Given the description of an element on the screen output the (x, y) to click on. 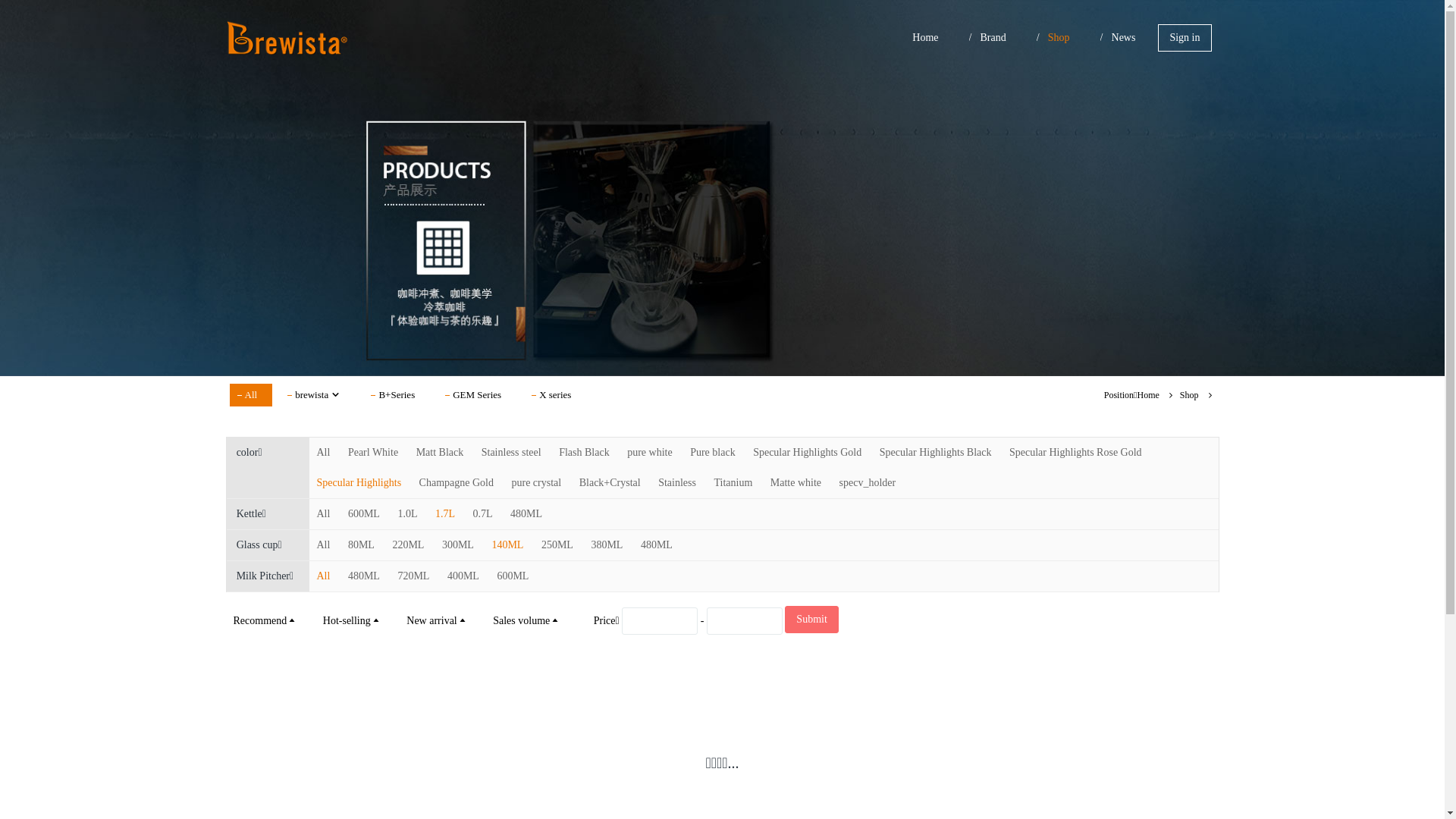
Specular Highlights Black Element type: text (935, 451)
brewista Element type: text (317, 394)
Matt Black Element type: text (439, 451)
Brewista In Asia Element type: hover (288, 37)
Brand Element type: text (993, 37)
GEM Series Element type: text (476, 394)
1.7L Element type: text (444, 513)
250ML Element type: text (556, 544)
All Element type: text (250, 394)
Submit Element type: text (810, 619)
Titanium Element type: text (732, 482)
380ML Element type: text (606, 544)
Specular Highlights Rose Gold Element type: text (1075, 451)
pure white Element type: text (649, 451)
Specular Highlights Element type: text (359, 482)
Stainless steel Element type: text (511, 451)
Home Element type: text (1147, 394)
Flash Black Element type: text (584, 451)
pure crystal Element type: text (535, 482)
Home Element type: text (924, 37)
Pearl White Element type: text (372, 451)
140ML Element type: text (506, 544)
Hot-selling Element type: text (352, 620)
All Element type: text (323, 513)
News Element type: text (1123, 37)
480ML Element type: text (363, 575)
All Element type: text (323, 544)
0.7L Element type: text (482, 513)
Black+Crystal Element type: text (609, 482)
Matte white Element type: text (795, 482)
480ML Element type: text (525, 513)
480ML Element type: text (656, 544)
Sign in Element type: text (1184, 37)
New arrival Element type: text (436, 620)
All Element type: text (323, 575)
All Element type: text (323, 451)
specv_holder Element type: text (867, 482)
Shop Element type: text (1188, 394)
720ML Element type: text (412, 575)
Pure black Element type: text (712, 451)
400ML Element type: text (462, 575)
Sales volume Element type: text (526, 620)
Specular Highlights Gold Element type: text (807, 451)
80ML Element type: text (361, 544)
220ML Element type: text (407, 544)
Shop Element type: text (1058, 37)
600ML Element type: text (363, 513)
B+Series Element type: text (396, 394)
300ML Element type: text (457, 544)
Recommend Element type: text (265, 620)
Stainless Element type: text (676, 482)
600ML Element type: text (512, 575)
Champagne Gold Element type: text (456, 482)
1.0L Element type: text (406, 513)
X series Element type: text (555, 394)
